Given the description of an element on the screen output the (x, y) to click on. 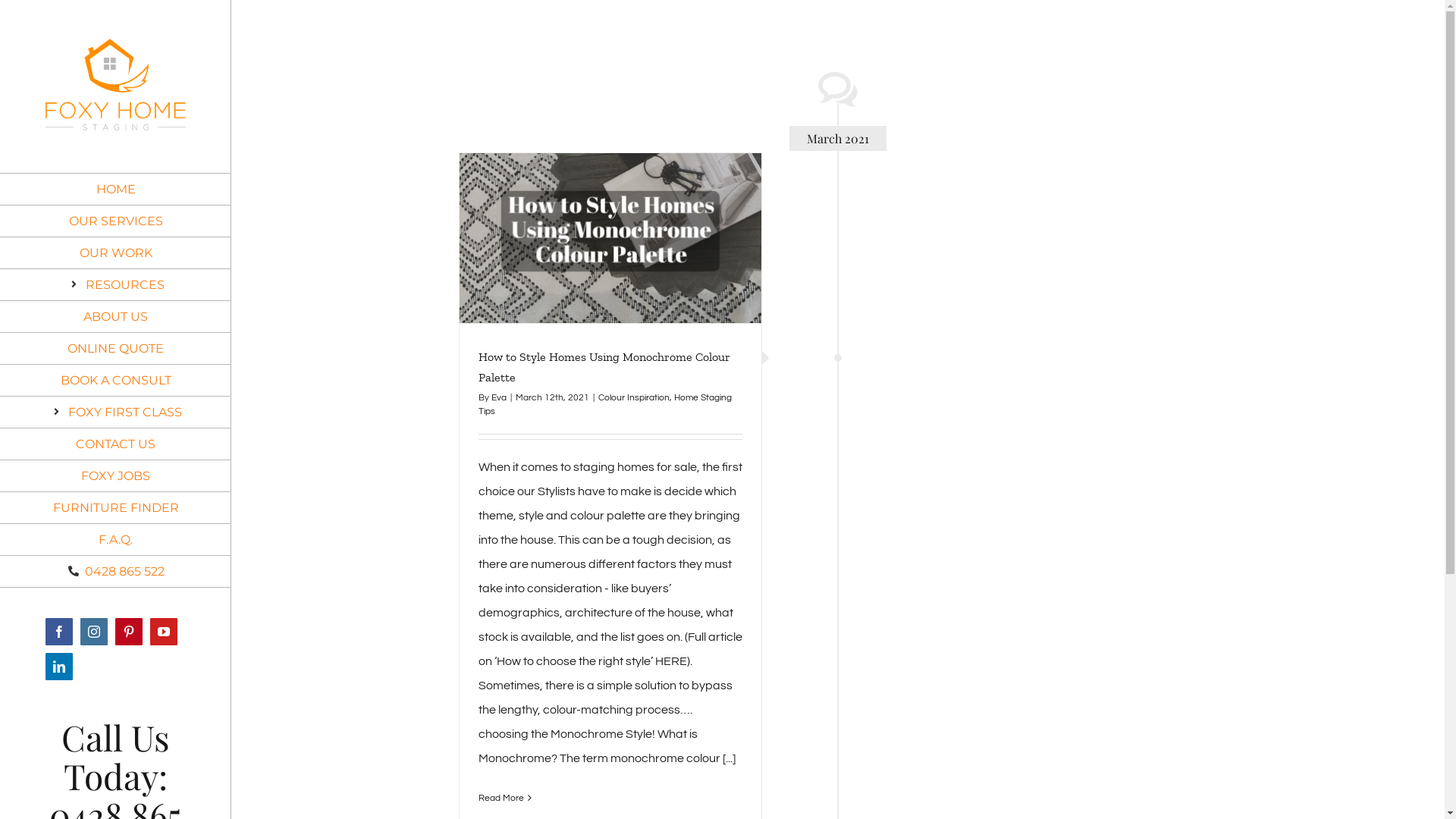
OUR WORK Element type: text (115, 253)
How to Style Homes Using Monochrome Colour Palette Element type: text (604, 366)
Eva Element type: text (498, 397)
Pinterest Element type: text (128, 631)
0428 865 522 Element type: text (115, 571)
Colour Inspiration Element type: text (633, 397)
RESOURCES Element type: text (115, 285)
Instagram Element type: text (93, 631)
Read More Element type: text (501, 798)
ABOUT US Element type: text (115, 316)
F.A.Q. Element type: text (115, 539)
FOXY JOBS Element type: text (115, 476)
BOOK A CONSULT Element type: text (115, 380)
FURNITURE FINDER Element type: text (115, 508)
Home Staging Tips Element type: text (604, 404)
OUR SERVICES Element type: text (115, 221)
YouTube Element type: text (163, 631)
FOXY FIRST CLASS Element type: text (115, 412)
HOME Element type: text (115, 188)
CONTACT US Element type: text (115, 444)
LinkedIn Element type: text (58, 666)
ONLINE QUOTE Element type: text (115, 348)
Facebook Element type: text (58, 631)
